Given the description of an element on the screen output the (x, y) to click on. 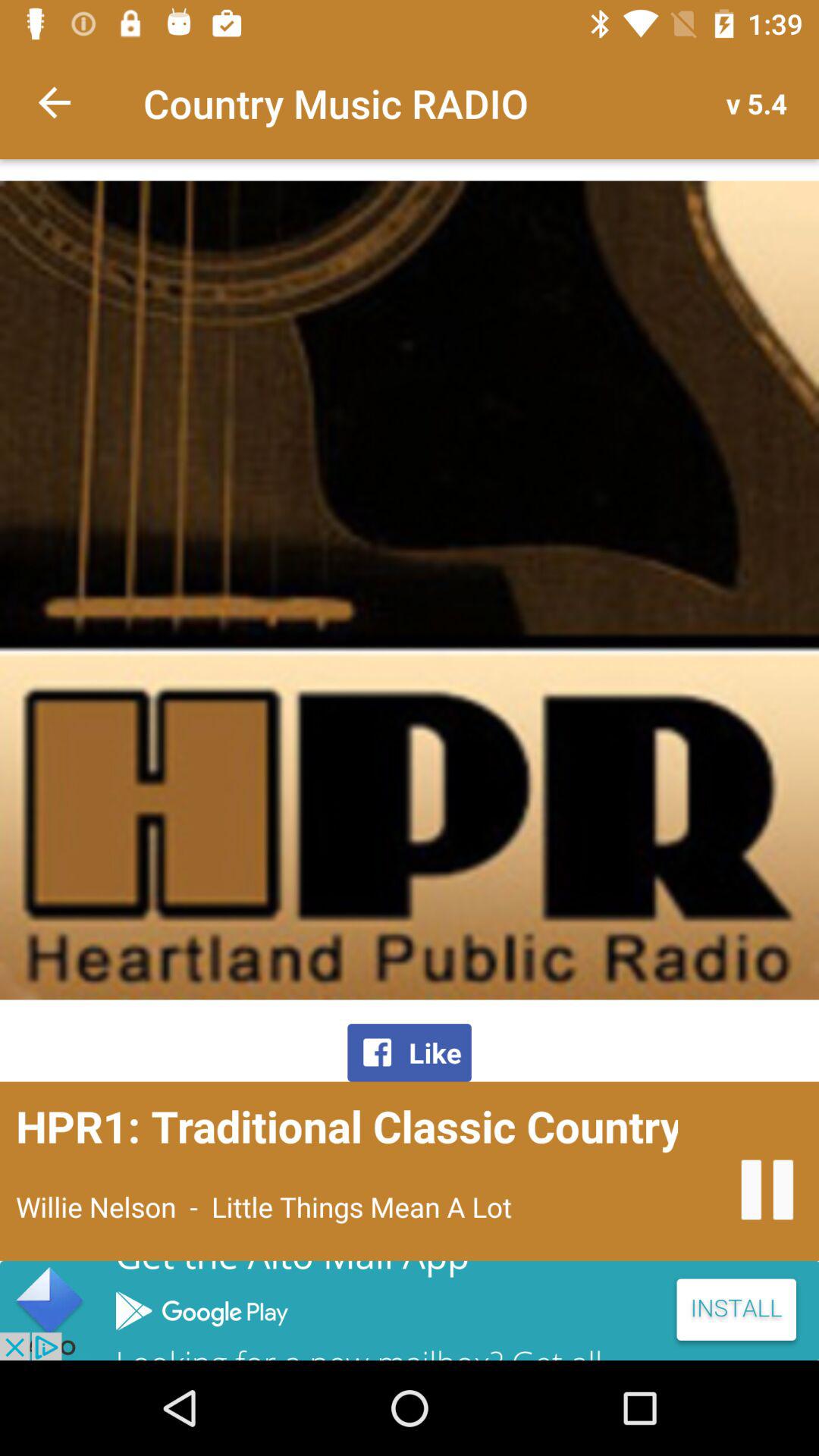
stop the radio (767, 1189)
